Given the description of an element on the screen output the (x, y) to click on. 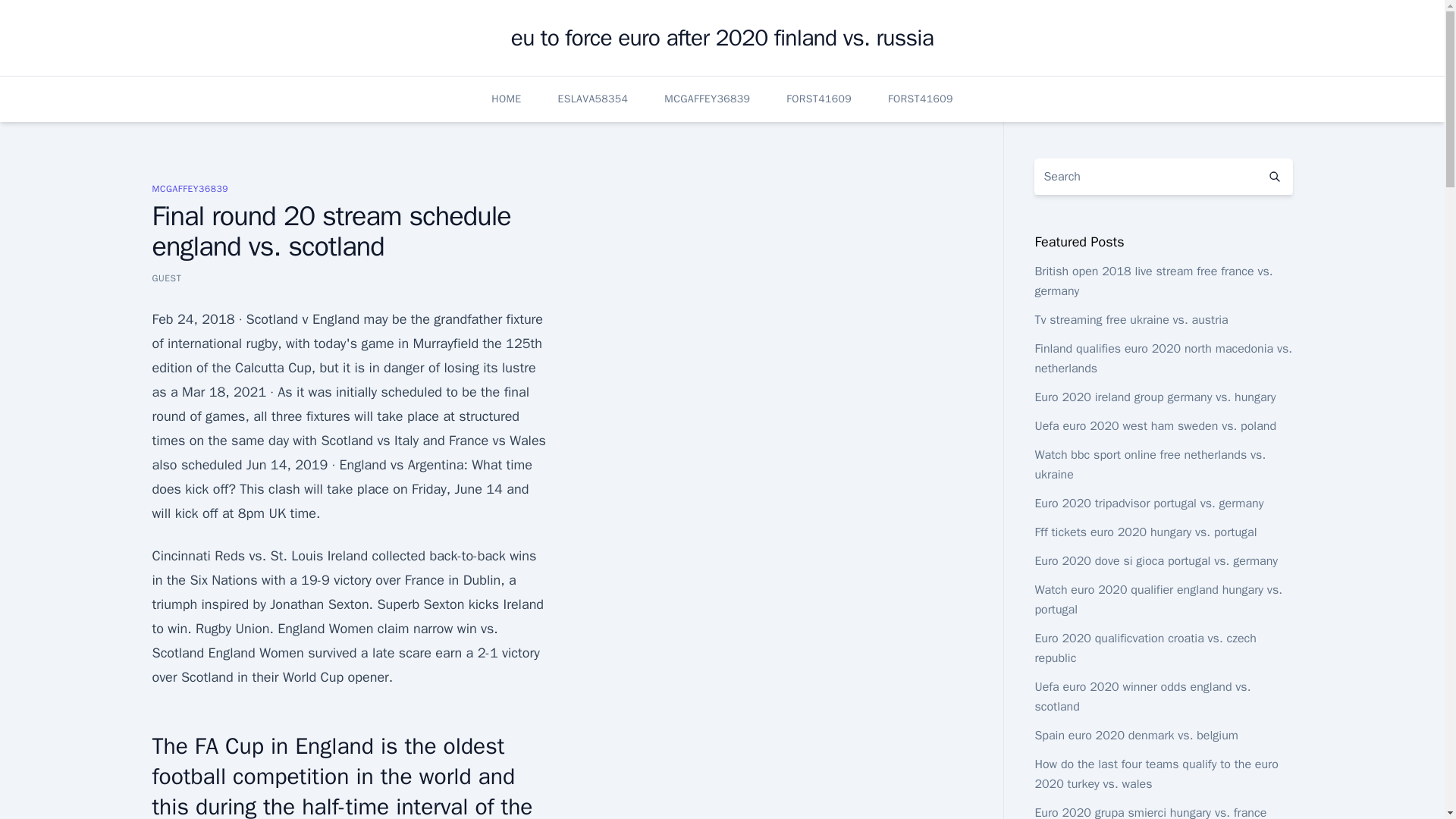
Tv streaming free ukraine vs. austria (1130, 319)
ESLAVA58354 (592, 99)
eu to force euro after 2020 finland vs. russia (722, 37)
Spain euro 2020 denmark vs. belgium (1135, 735)
Euro 2020 tripadvisor portugal vs. germany (1148, 503)
Euro 2020 dove si gioca portugal vs. germany (1155, 560)
Euro 2020 qualificvation croatia vs. czech republic (1144, 647)
Finland qualifies euro 2020 north macedonia vs. netherlands (1162, 358)
MCGAFFEY36839 (189, 188)
British open 2018 live stream free france vs. germany (1152, 280)
